Given the description of an element on the screen output the (x, y) to click on. 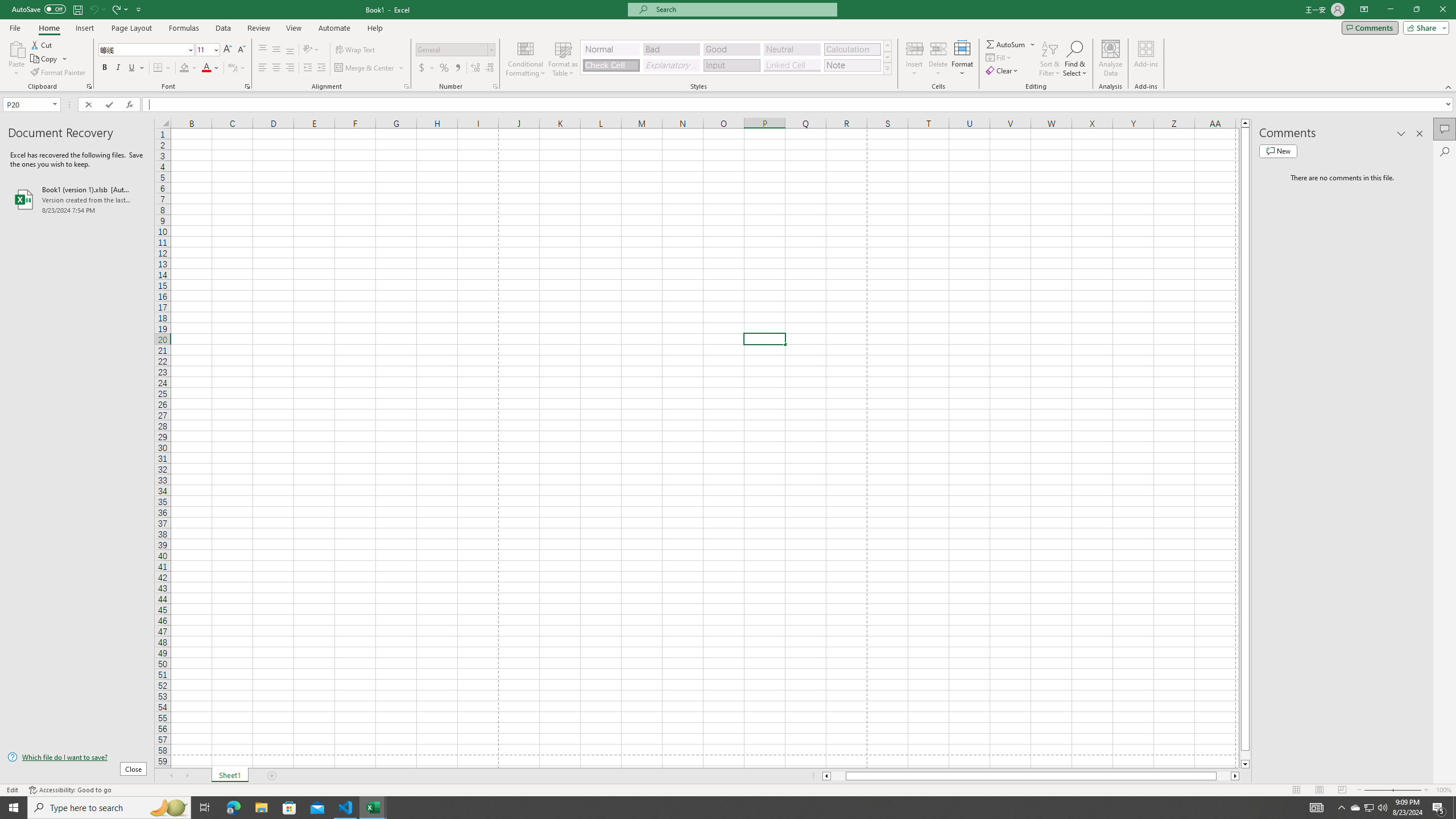
Restore Down (1416, 9)
Close pane (1419, 133)
Normal (611, 49)
Formula Bar (799, 104)
Class: NetUIImage (887, 68)
